Given the description of an element on the screen output the (x, y) to click on. 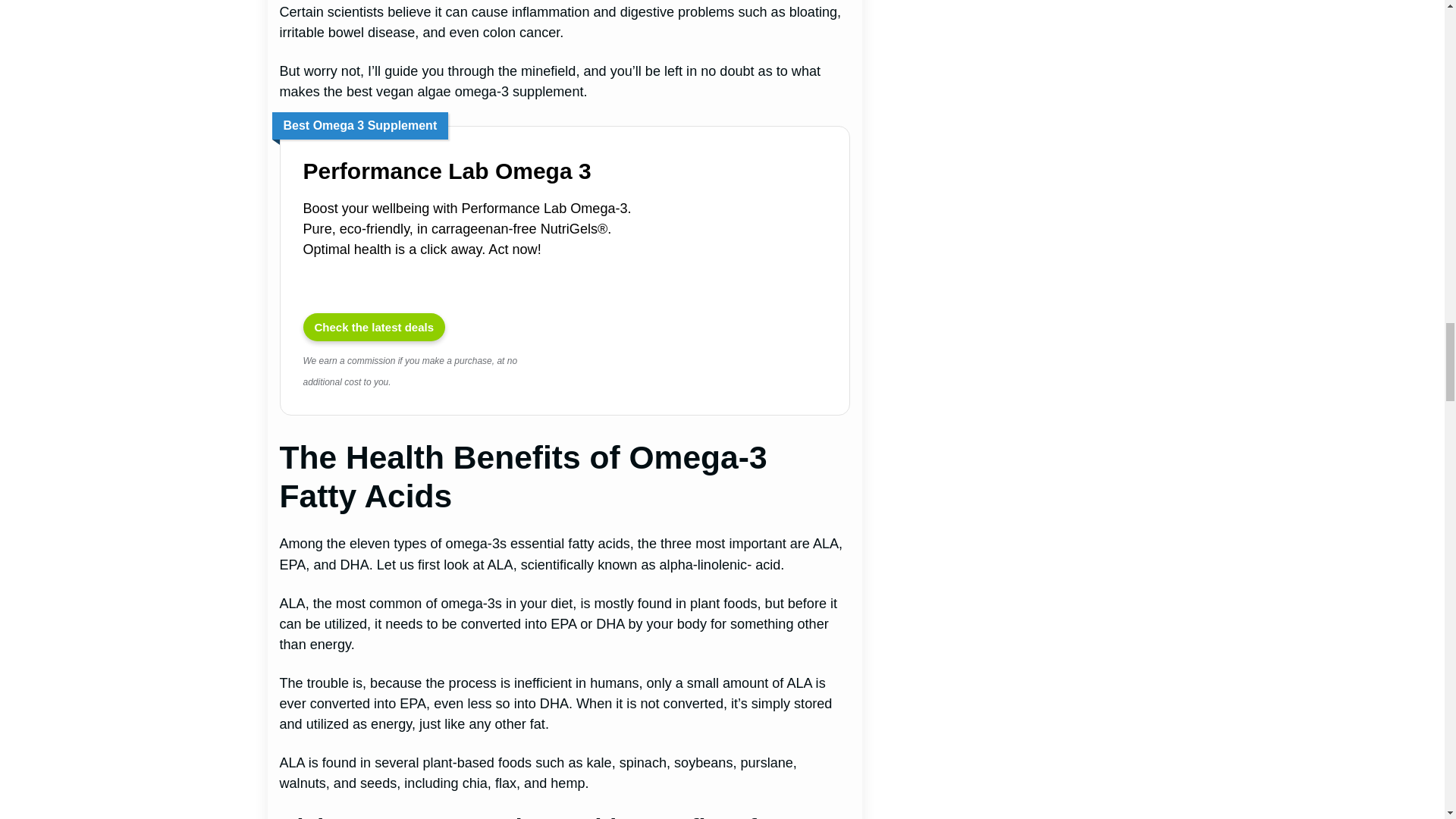
Performance Lab Omega 3 (480, 171)
Check the latest deals (373, 326)
Performance Lab Omega 3 (754, 293)
Performance Lab Omega 3 (480, 171)
Performance Lab Omega 3 (373, 326)
